Given the description of an element on the screen output the (x, y) to click on. 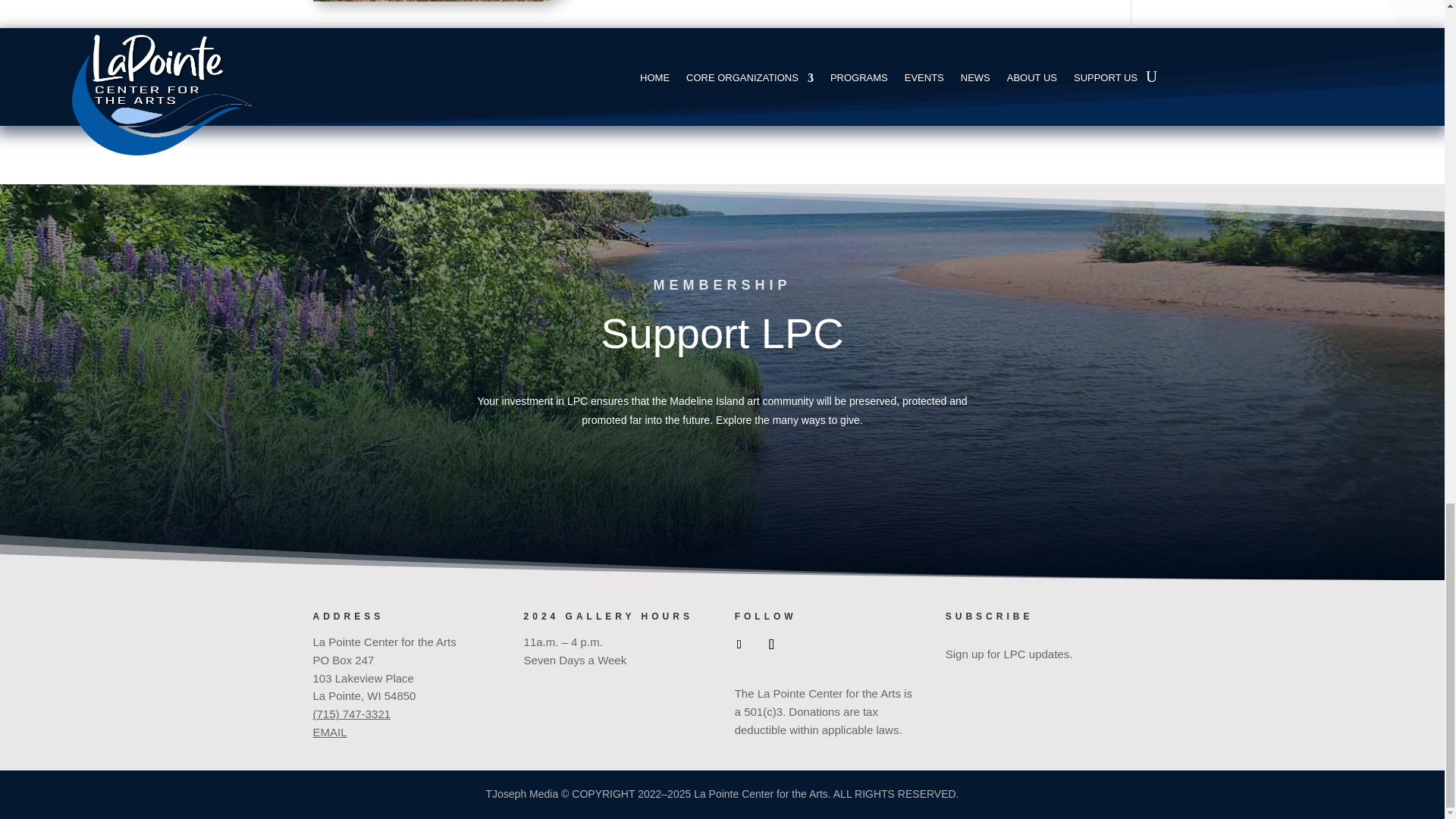
Follow on Facebook (738, 644)
Follow on Youtube (771, 644)
